Given the description of an element on the screen output the (x, y) to click on. 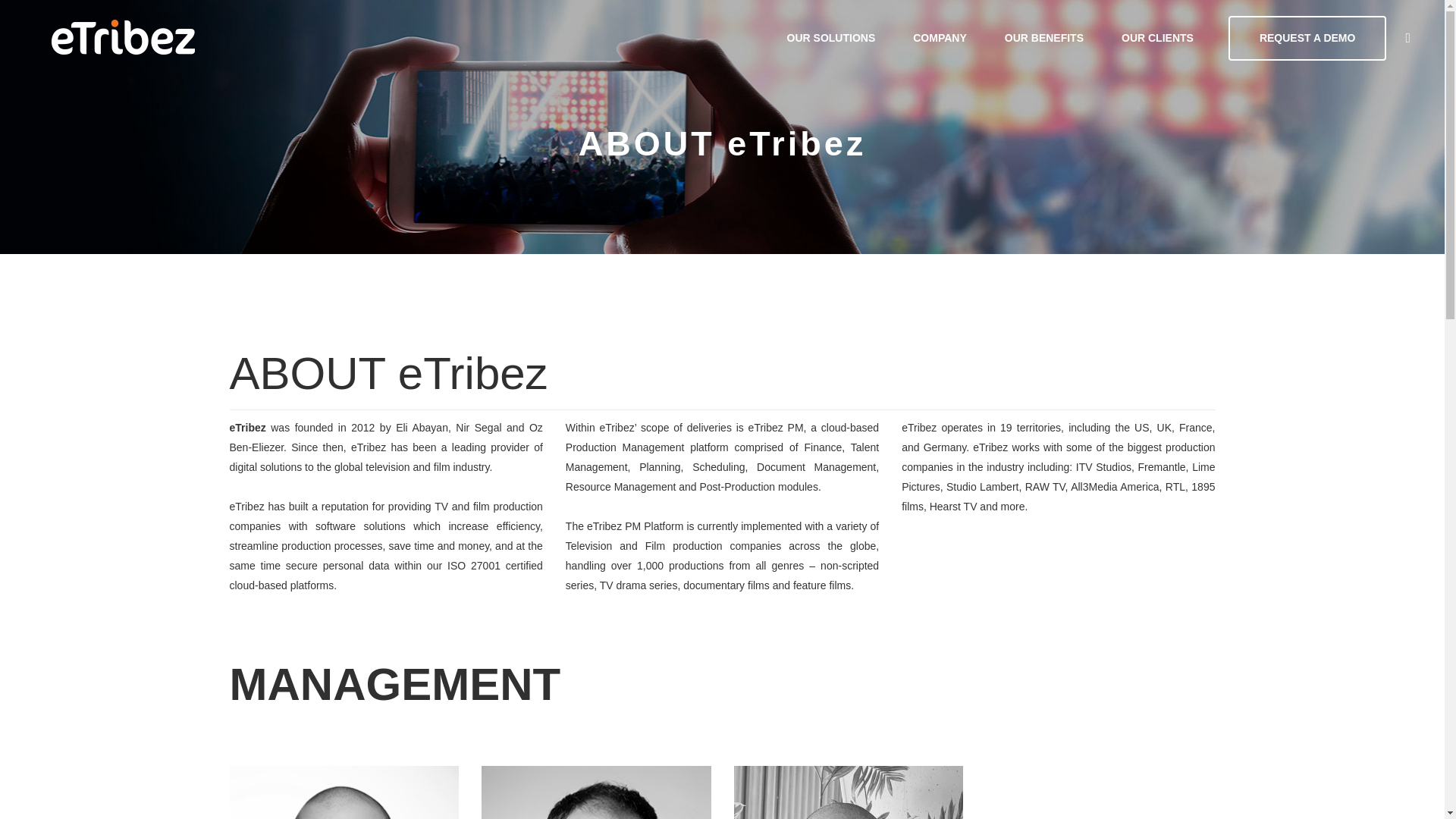
logo (122, 37)
REQUEST A DEMO (1307, 37)
OUR SOLUTIONS (831, 38)
COMPANY (939, 38)
